Given the description of an element on the screen output the (x, y) to click on. 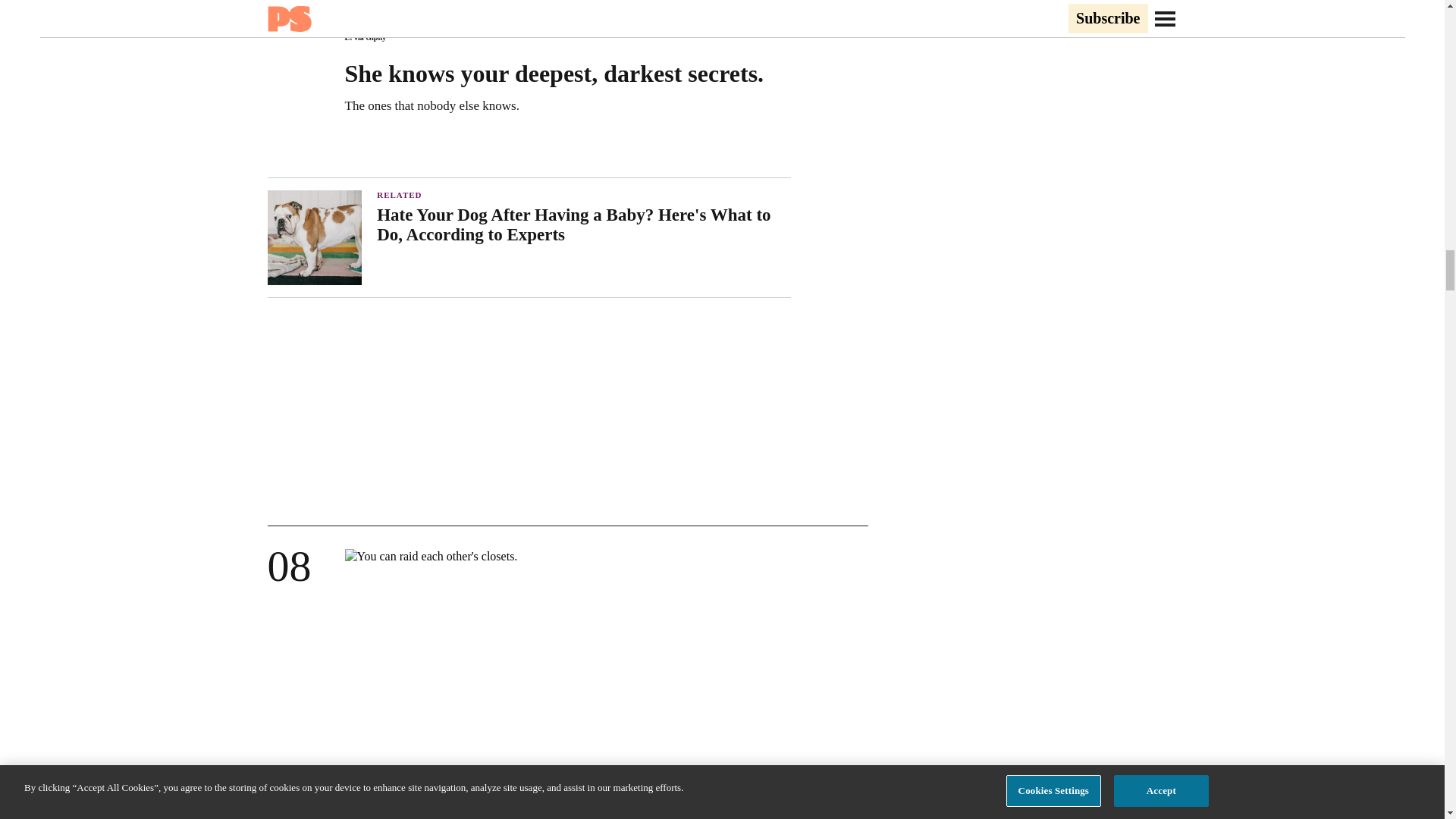
E! via Giphy (364, 37)
